Given the description of an element on the screen output the (x, y) to click on. 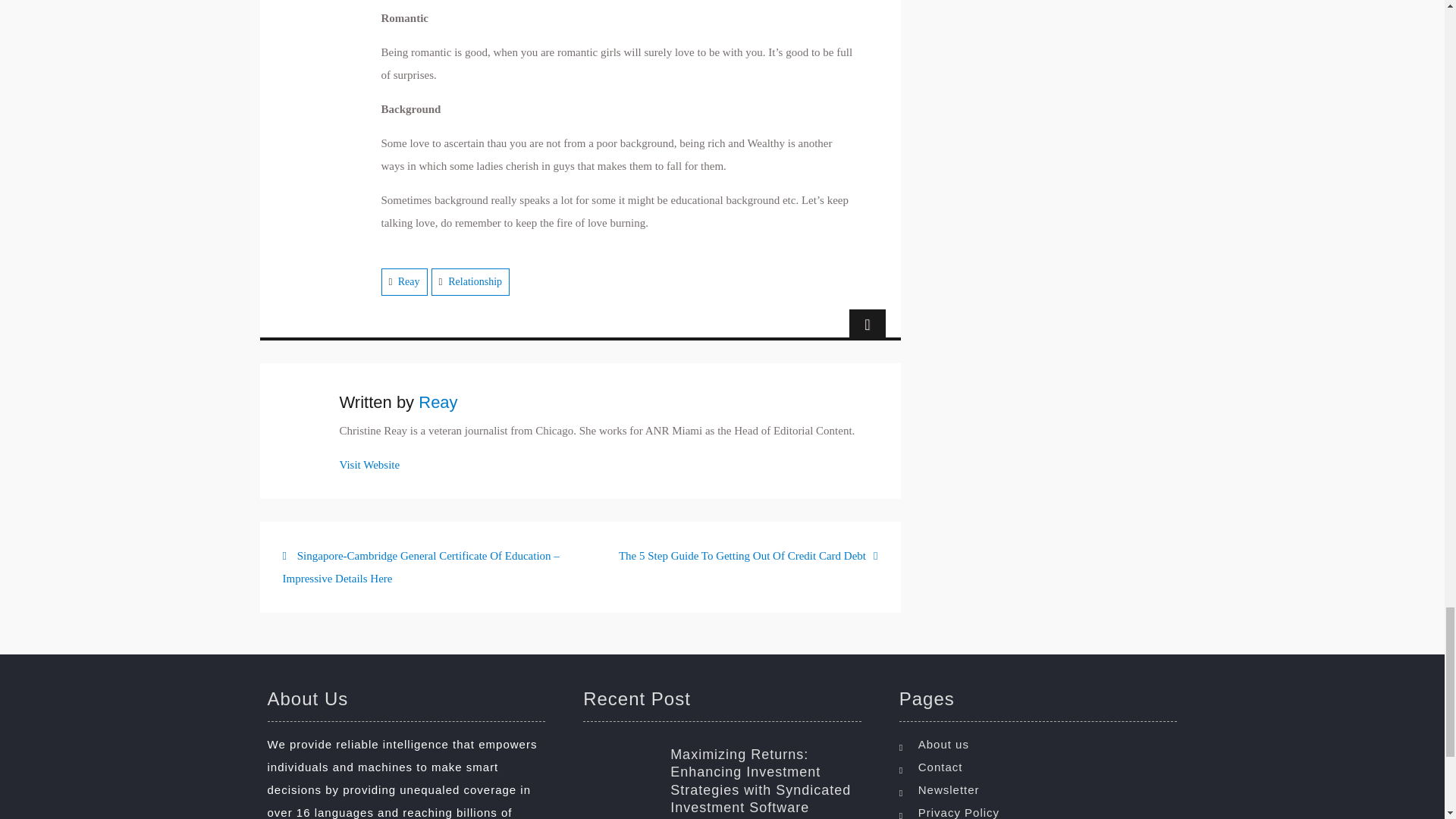
Relationship (475, 281)
Newsletter (1042, 789)
Reay (408, 281)
Visit Website (369, 464)
Reay (438, 402)
About us (1042, 744)
Posts by Reay (438, 402)
Privacy Policy (1042, 810)
